Given the description of an element on the screen output the (x, y) to click on. 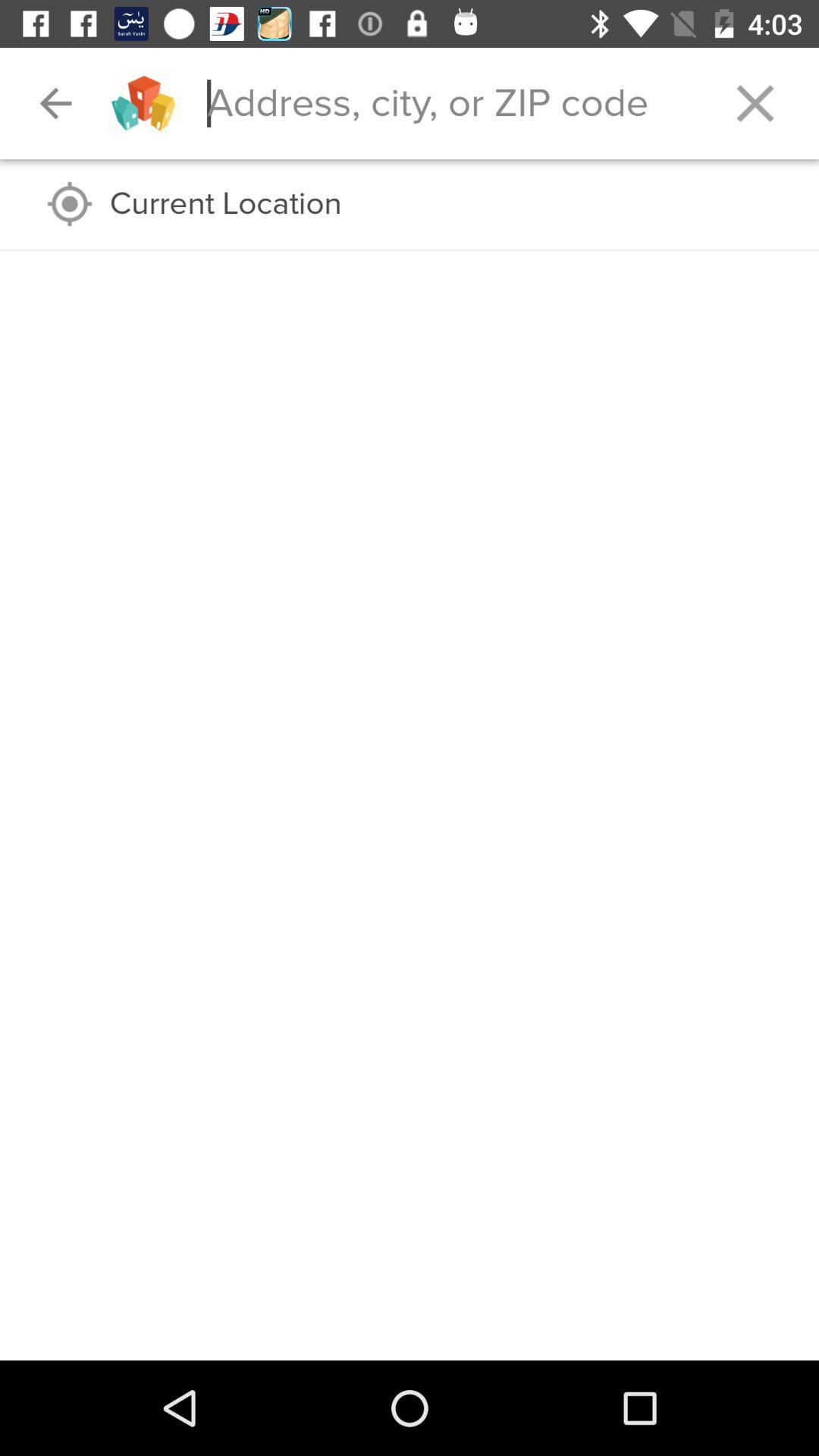
enter address (449, 103)
